Given the description of an element on the screen output the (x, y) to click on. 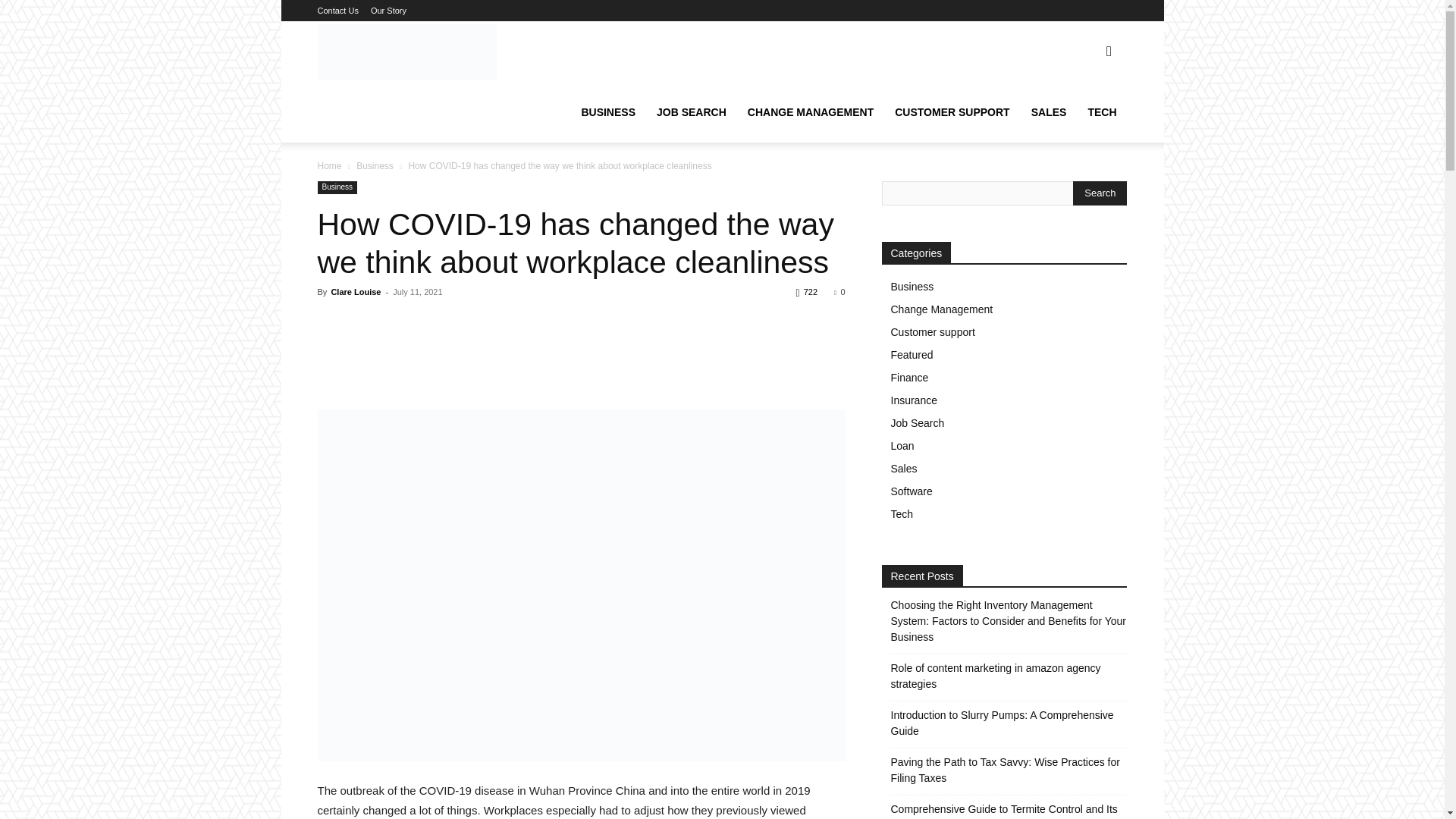
0 (839, 291)
Search (1099, 192)
Business (374, 165)
Contact Us (337, 10)
Our Story (388, 10)
Business (336, 187)
BUSINESS (608, 111)
SALES (1048, 111)
View all posts in Business (374, 165)
CUSTOMER SUPPORT (951, 111)
